Given the description of an element on the screen output the (x, y) to click on. 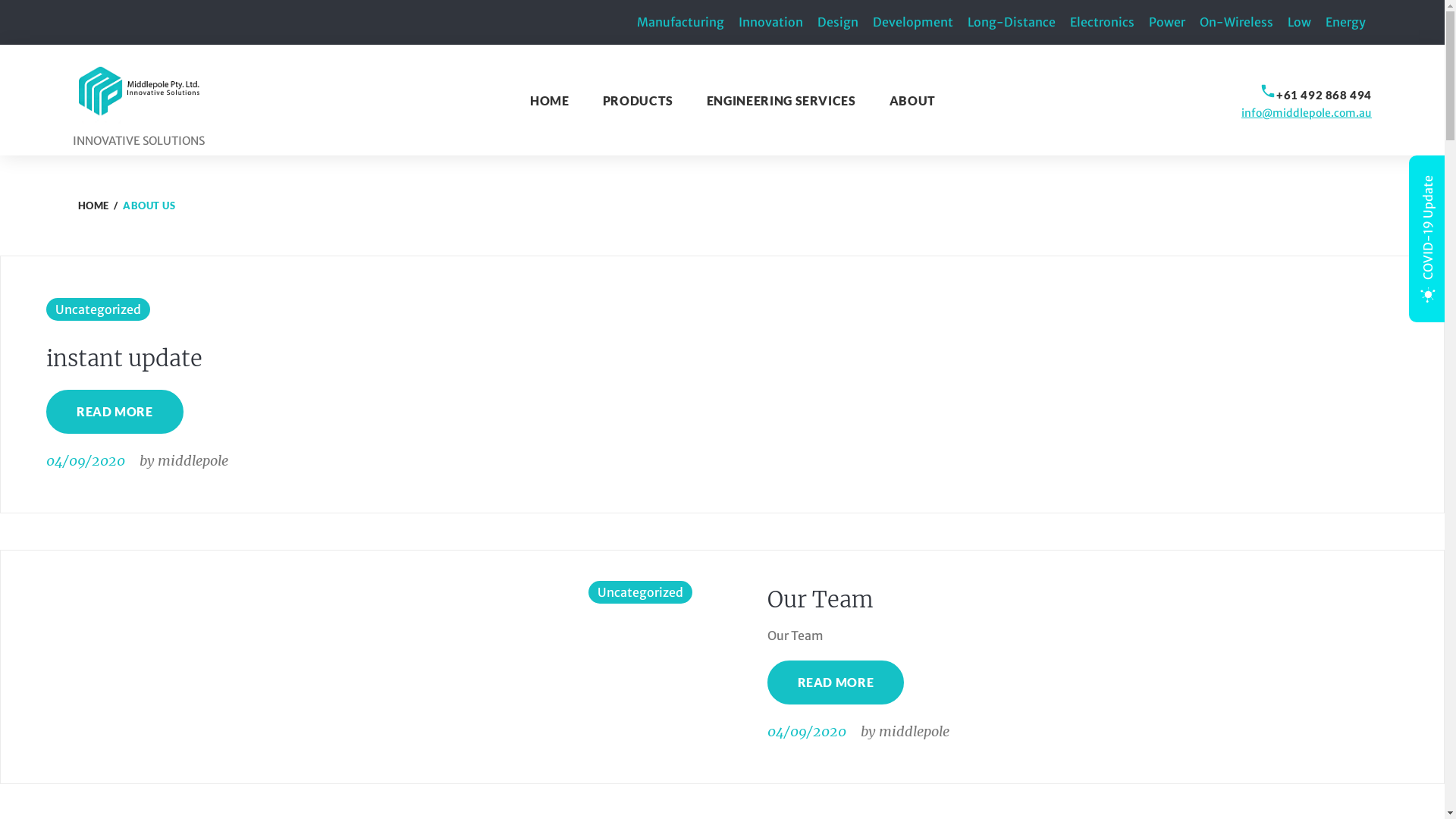
READ MORE Element type: text (114, 411)
Innovation Element type: text (770, 21)
Long-Distance Element type: text (1011, 21)
Our Team Element type: text (820, 599)
HOME Element type: text (92, 205)
On-Wireless Element type: text (1236, 21)
HOME Element type: text (549, 99)
middlepole Element type: text (913, 731)
04/09/2020 Element type: text (85, 460)
Uncategorized Element type: text (98, 309)
instant update Element type: text (124, 358)
READ MORE Element type: text (835, 682)
Power Element type: text (1166, 21)
ENGINEERING SERVICES Element type: text (781, 99)
ABOUT Element type: text (912, 99)
Energy Element type: text (1345, 21)
PRODUCTS Element type: text (638, 99)
Manufacturing Element type: text (680, 21)
Uncategorized Element type: text (640, 591)
middlepole Element type: text (192, 460)
04/09/2020 Element type: text (806, 731)
Design Element type: text (837, 21)
info@middlepole.com.au Element type: text (1306, 112)
Skip to content Element type: text (0, 0)
+61 492 868 494 Element type: text (1323, 94)
Development Element type: text (912, 21)
Low Element type: text (1299, 21)
Electronics Element type: text (1102, 21)
